Given the description of an element on the screen output the (x, y) to click on. 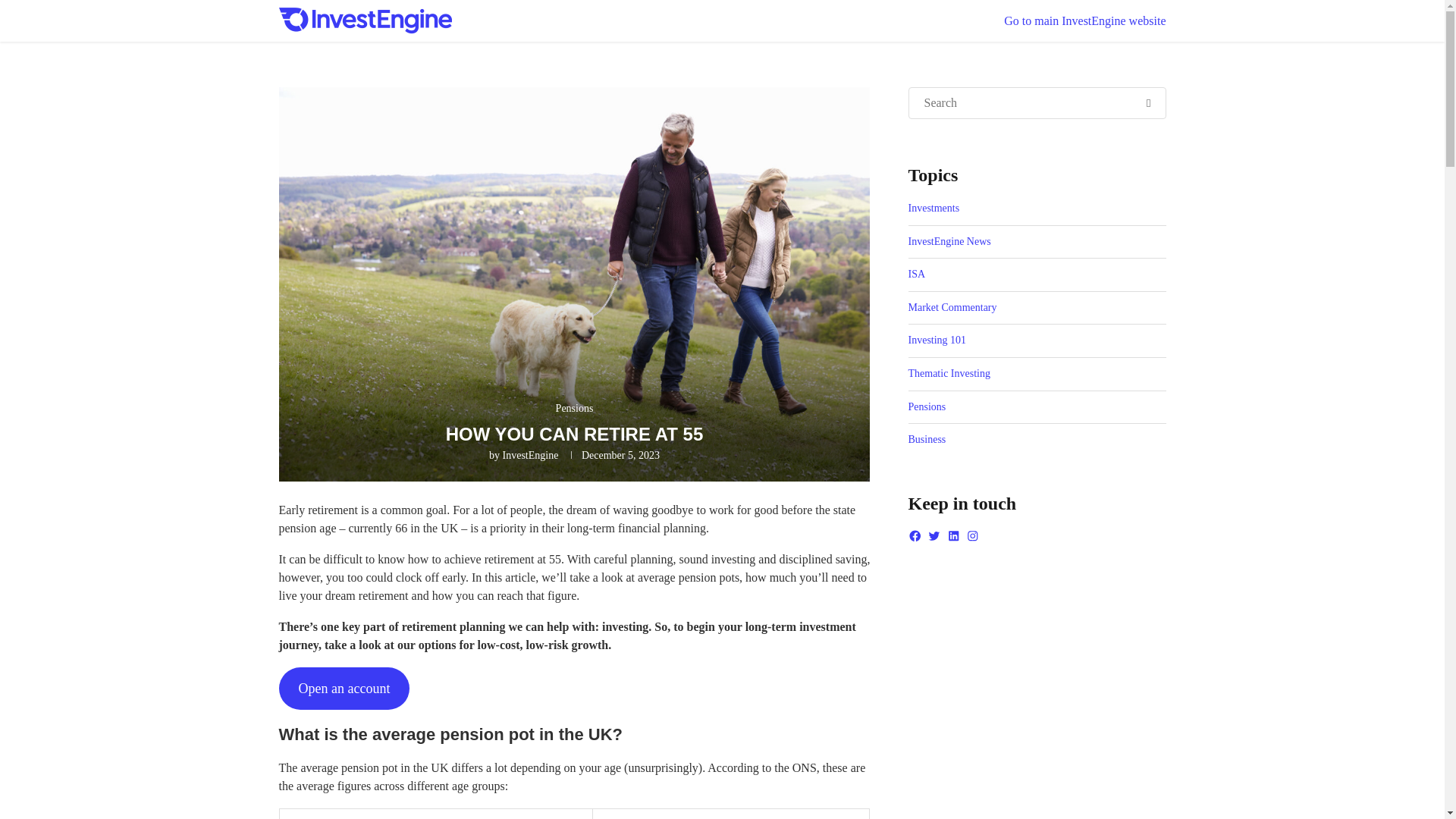
InvestEngine (530, 455)
Go to main InvestEngine website (1085, 20)
Open an account (344, 688)
Pensions (575, 408)
